Given the description of an element on the screen output the (x, y) to click on. 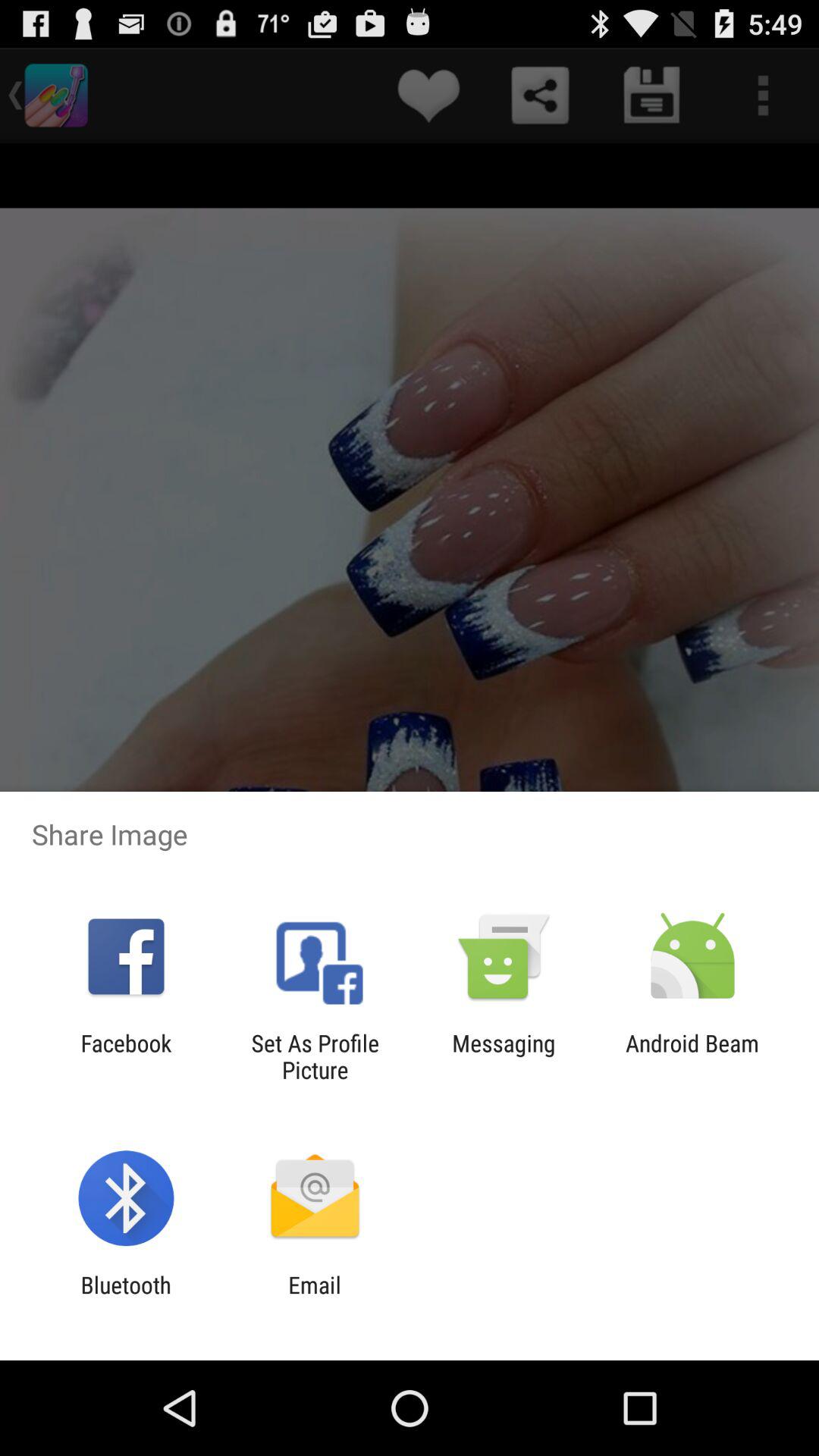
choose set as profile app (314, 1056)
